Given the description of an element on the screen output the (x, y) to click on. 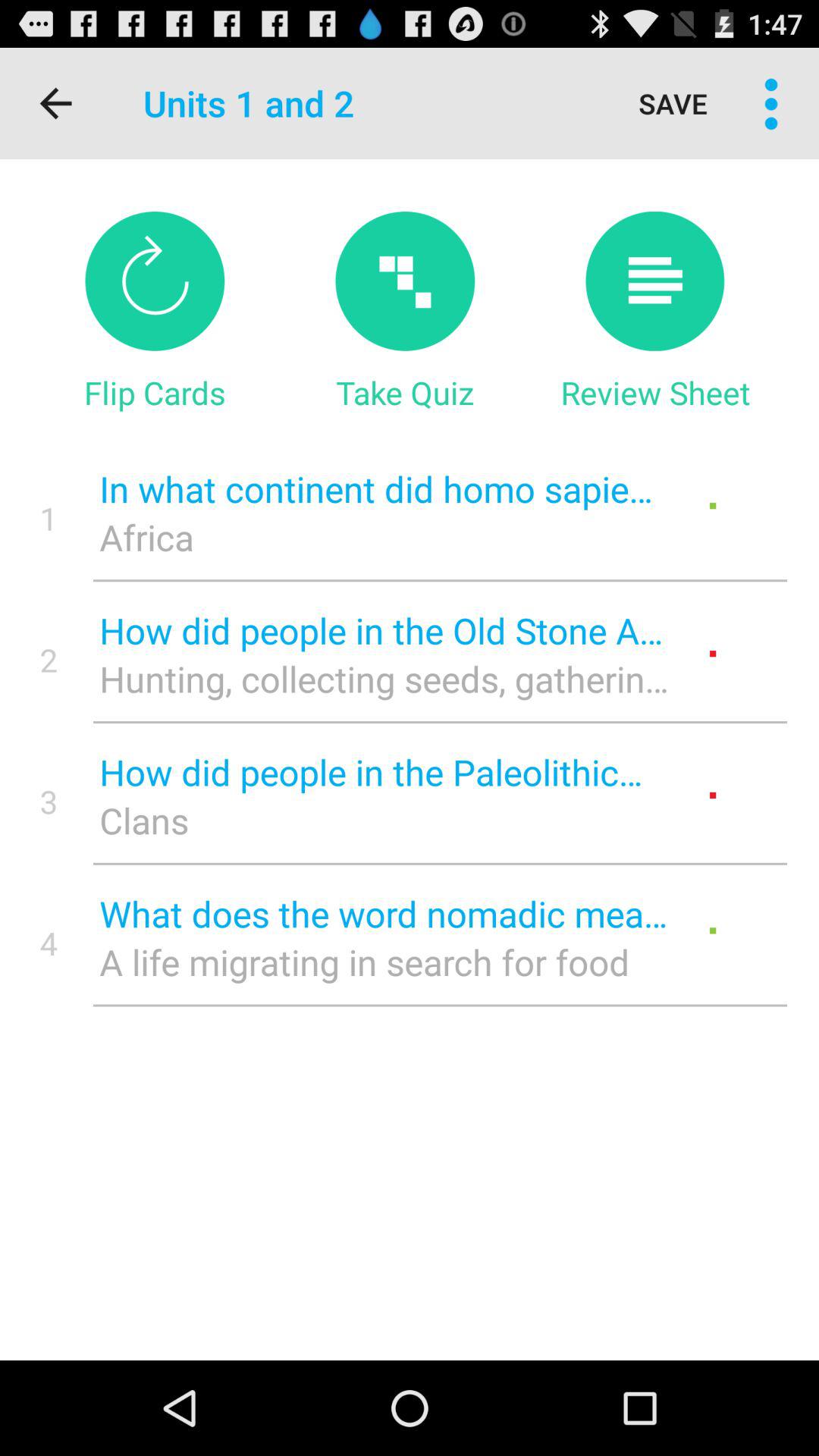
open icon above in what continent (405, 392)
